Given the description of an element on the screen output the (x, y) to click on. 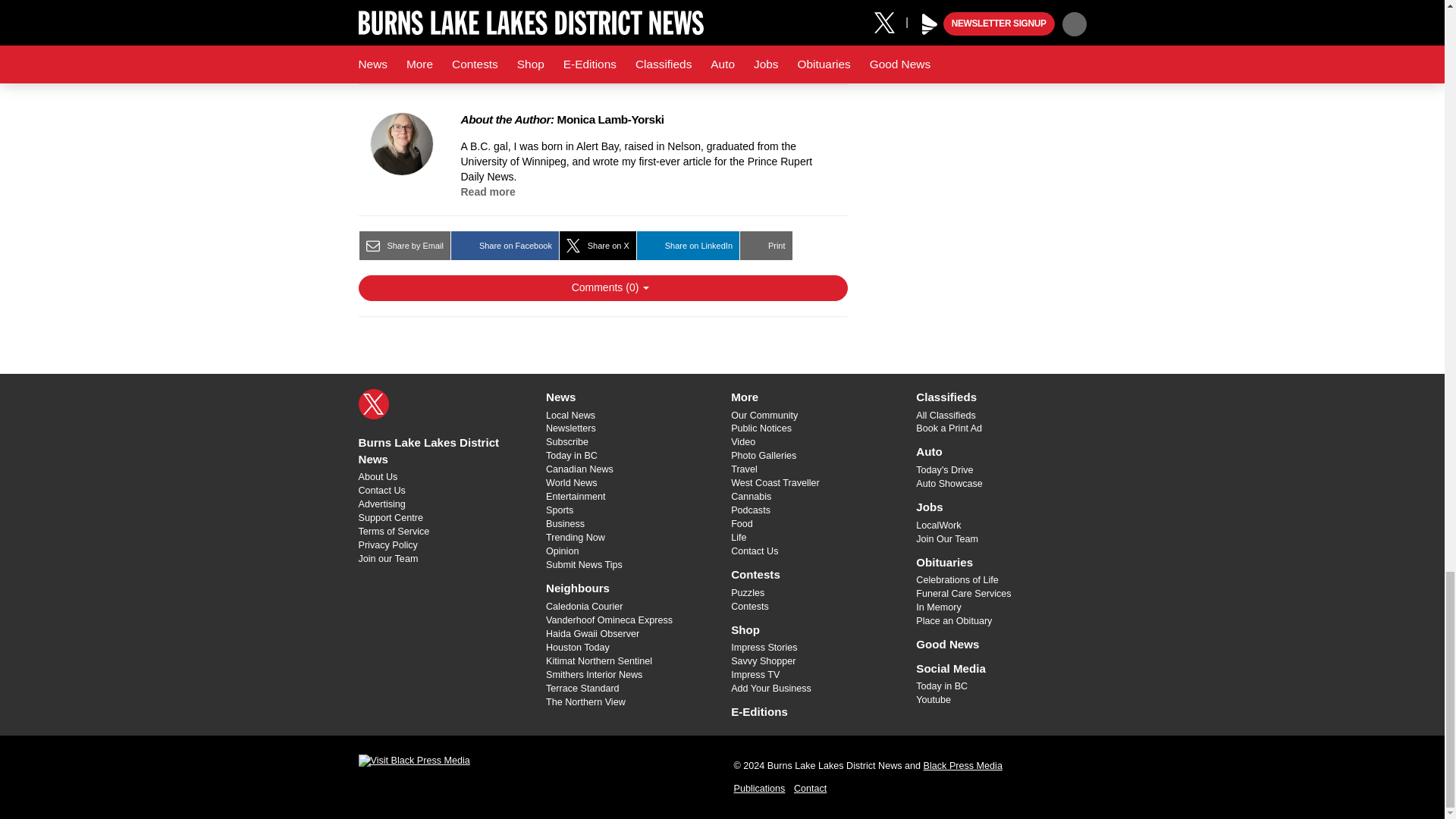
Show Comments (602, 288)
X (373, 404)
